Given the description of an element on the screen output the (x, y) to click on. 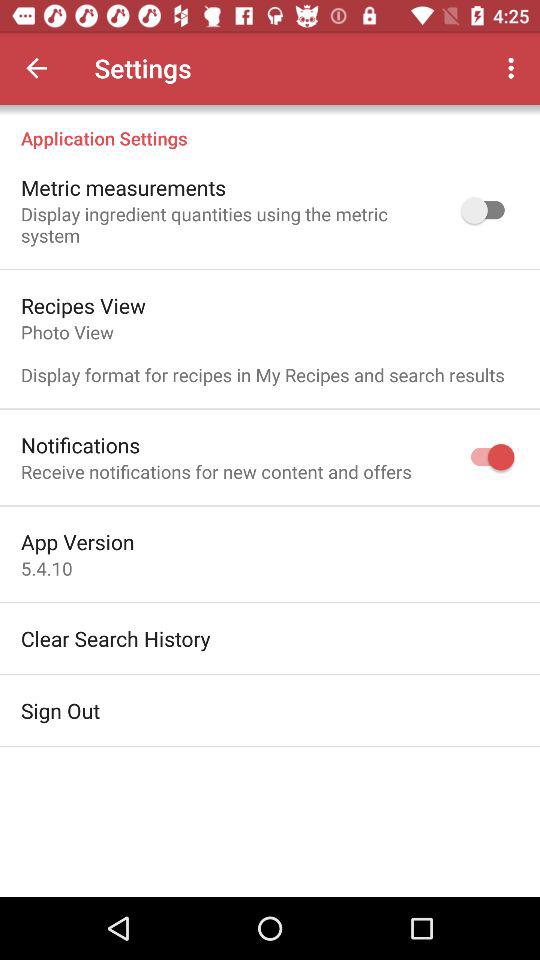
launch the item above metric measurements (270, 127)
